Given the description of an element on the screen output the (x, y) to click on. 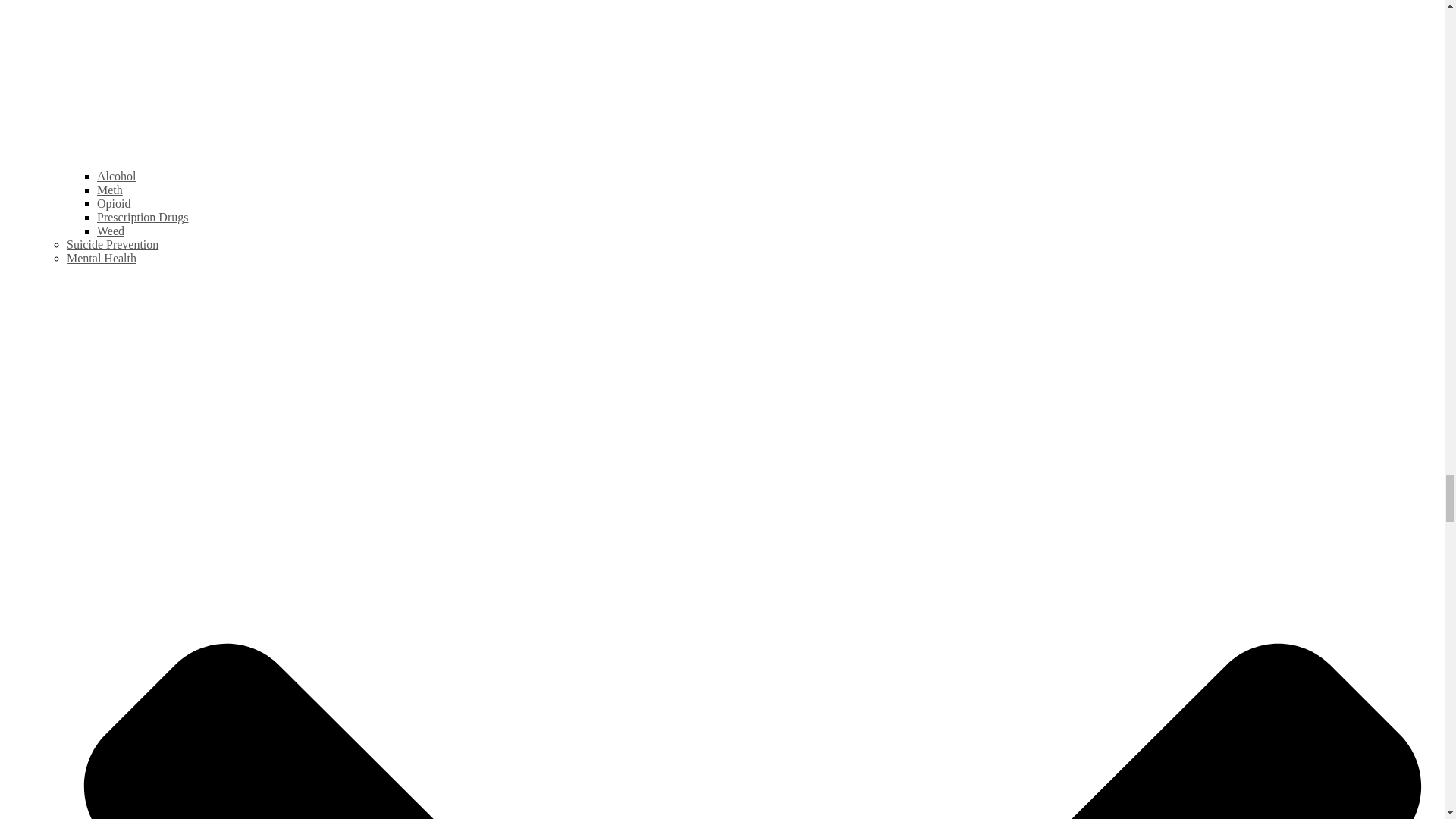
Meth (109, 189)
Alcohol (116, 175)
Weed (110, 230)
Prescription Drugs (142, 216)
Opioid (114, 203)
